Given the description of an element on the screen output the (x, y) to click on. 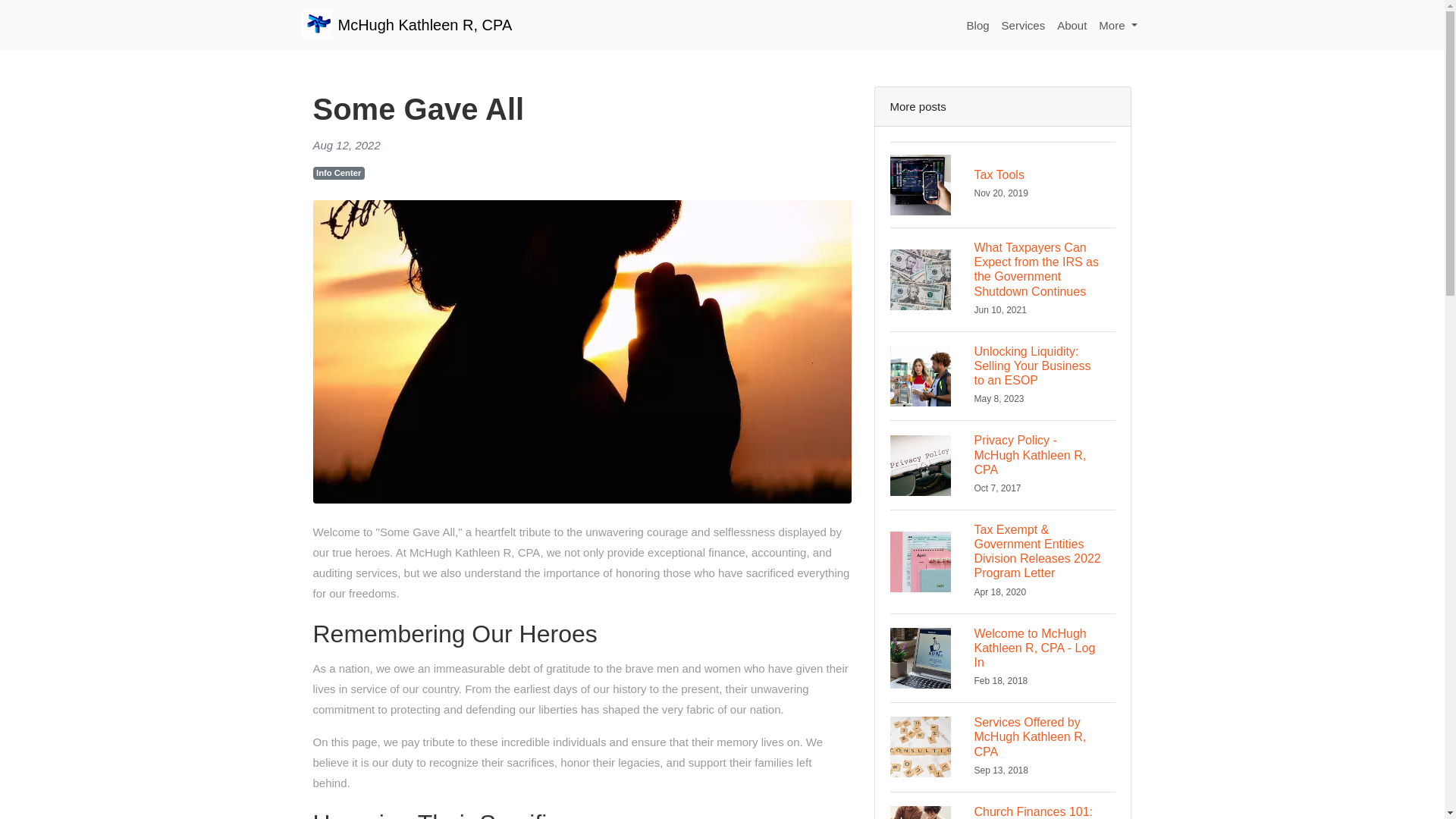
Blog (1002, 464)
Services (977, 25)
More (1002, 746)
Info Center (1023, 25)
About (1117, 25)
McHugh Kathleen R, CPA (338, 173)
